Given the description of an element on the screen output the (x, y) to click on. 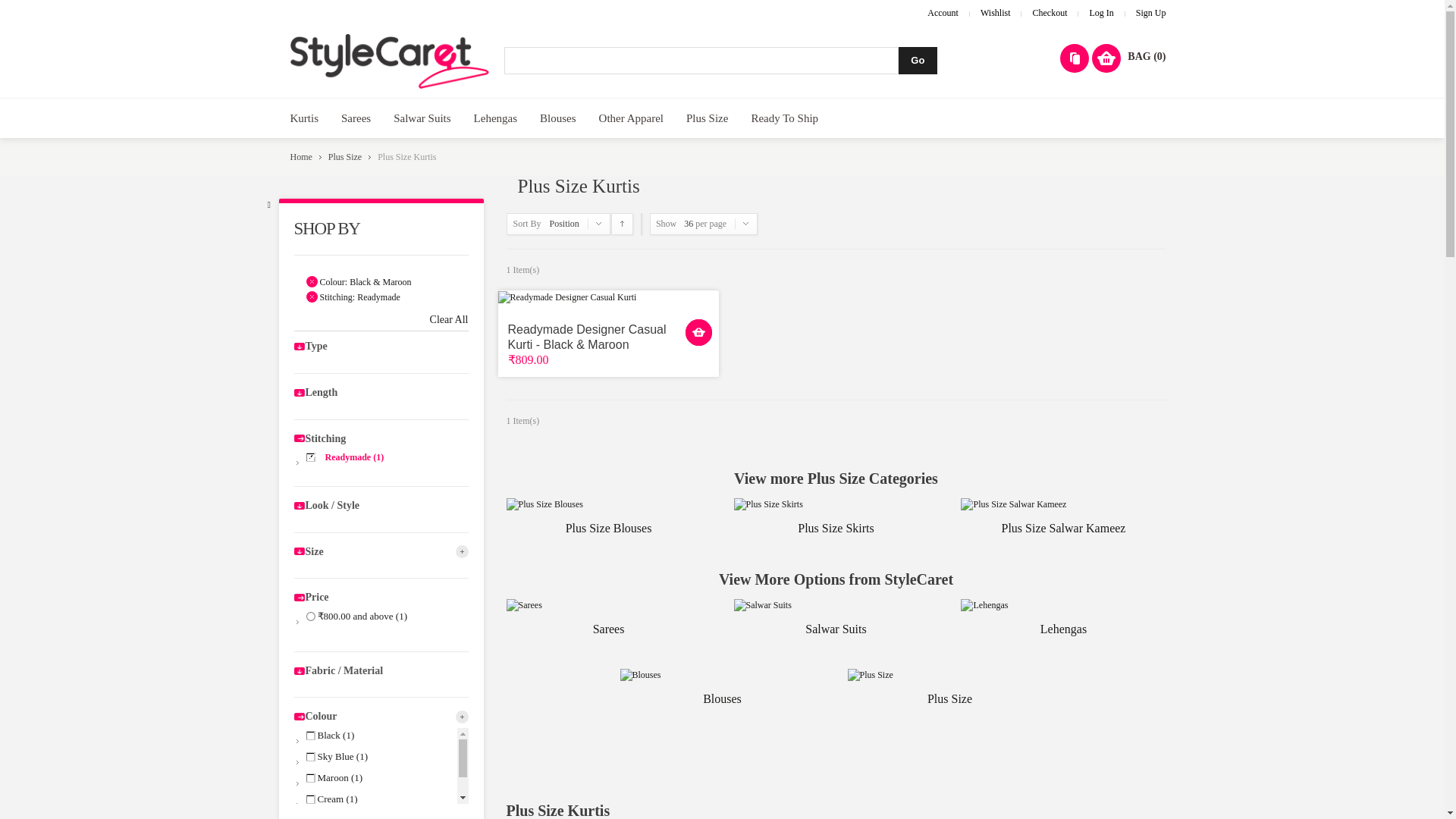
Kurtis (304, 118)
Kurtis (304, 118)
Checkout (1049, 12)
Checkout (1049, 12)
Wishlist (994, 12)
Go (917, 60)
Stylecaret.com (389, 61)
Account (942, 12)
Wishlist (994, 12)
Log In (1101, 12)
Account (942, 12)
Sign Up (1150, 12)
Go (917, 60)
Log In (1101, 12)
